Given the description of an element on the screen output the (x, y) to click on. 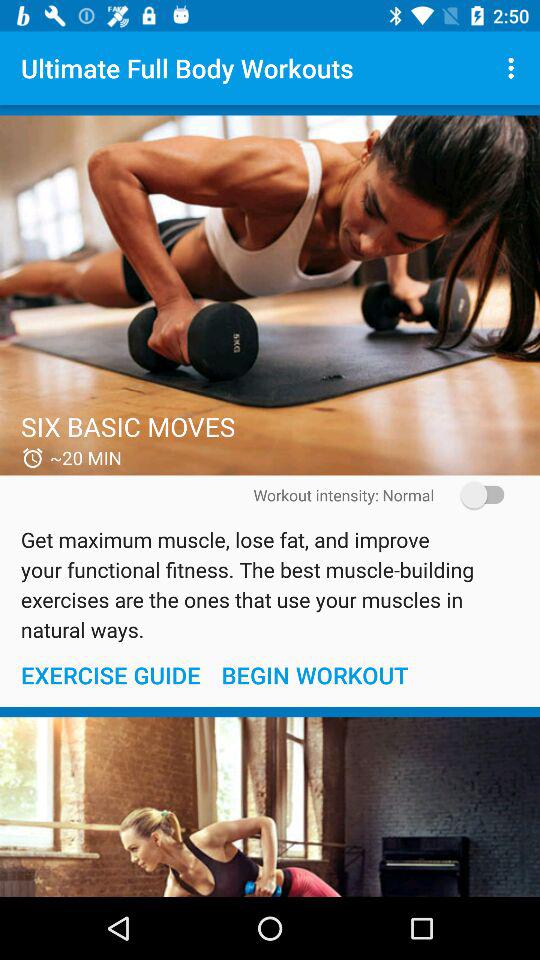
play video (270, 295)
